Given the description of an element on the screen output the (x, y) to click on. 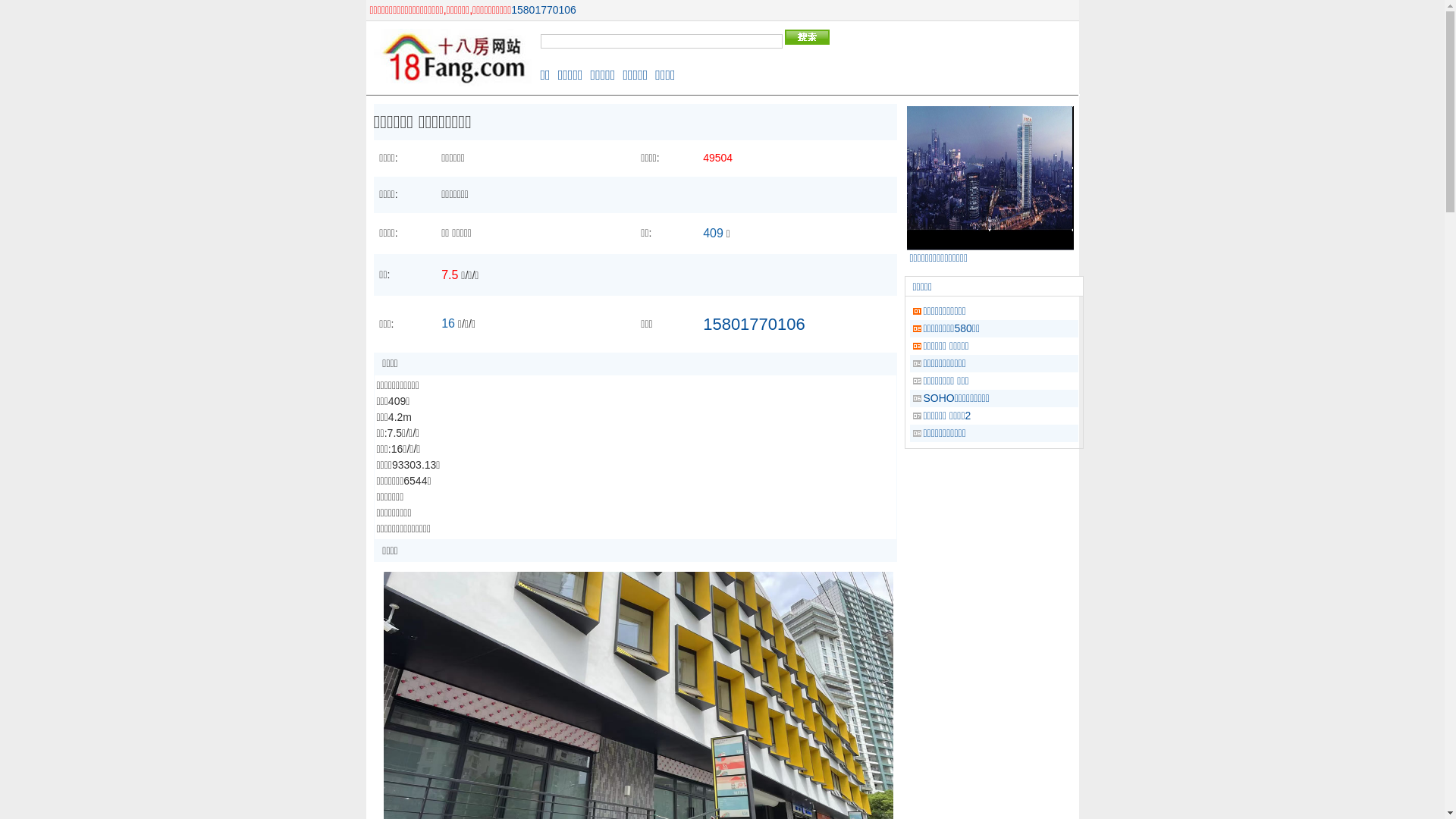
15801770106 Element type: text (543, 9)
15801770106 Element type: text (753, 323)
